Given the description of an element on the screen output the (x, y) to click on. 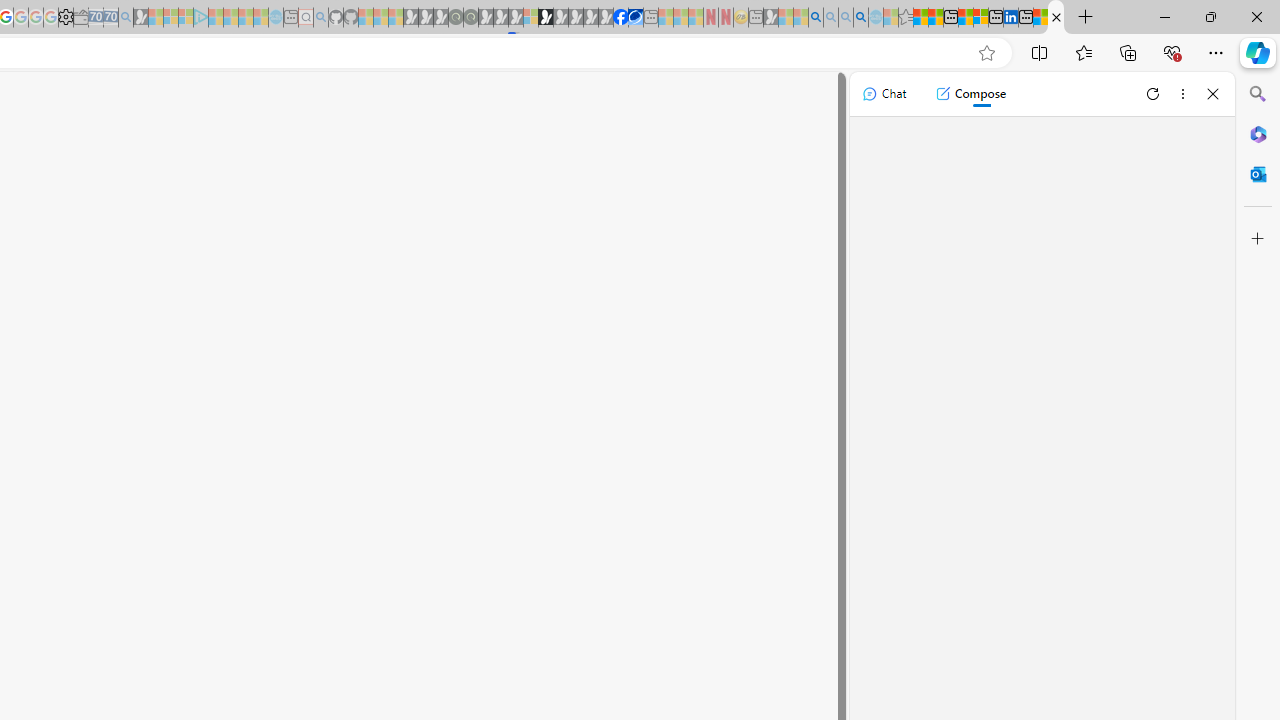
Compose (970, 93)
Chat (884, 93)
Nordace | Facebook (621, 17)
Aberdeen, Hong Kong SAR weather forecast | Microsoft Weather (936, 17)
